Given the description of an element on the screen output the (x, y) to click on. 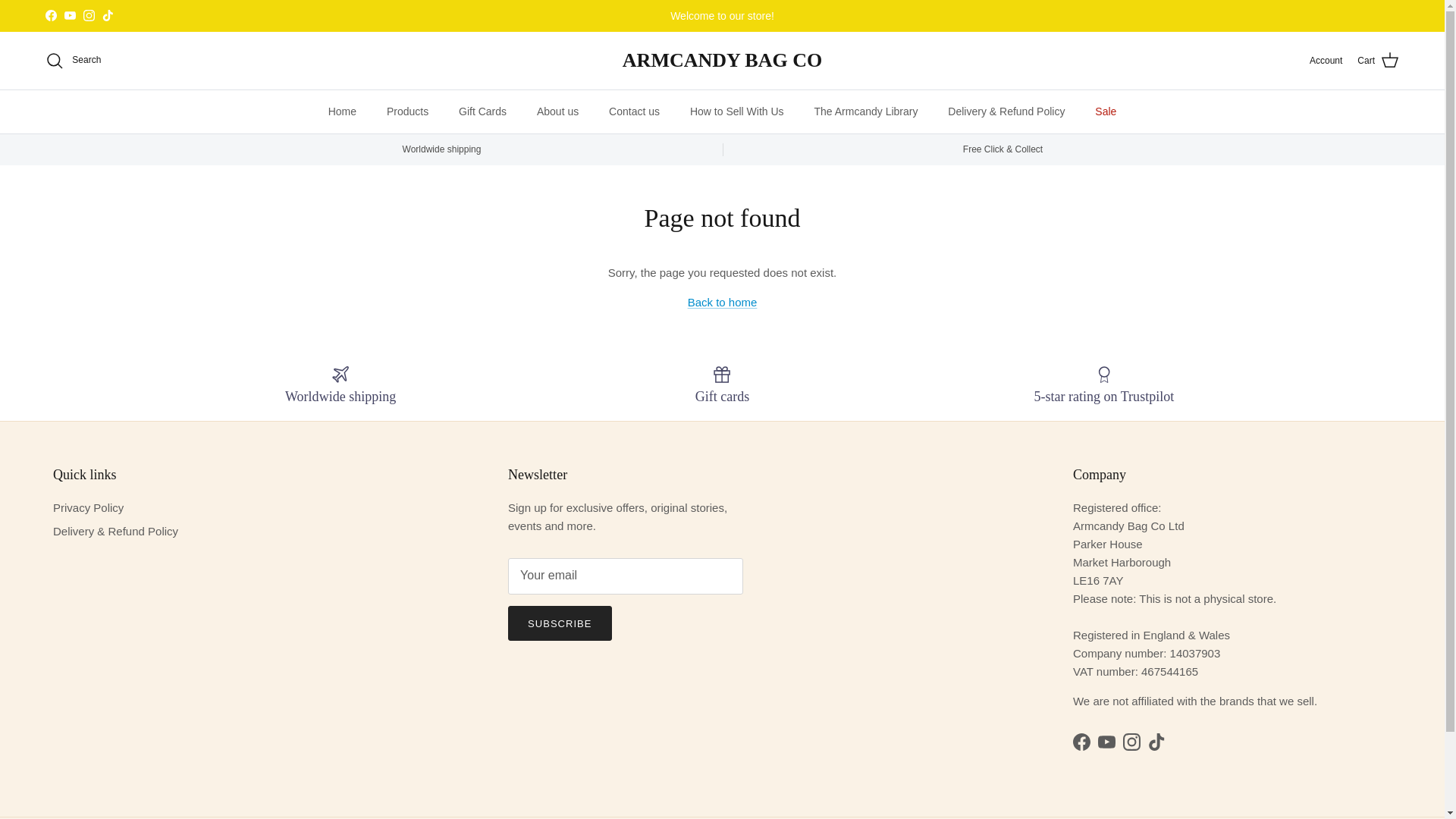
Search (72, 60)
ARMCANDY BAG CO on Facebook (1081, 742)
ARMCANDY BAG CO (722, 60)
ARMCANDY BAG CO on TikTok (107, 15)
ARMCANDY BAG CO on Facebook (50, 15)
Facebook (50, 15)
Home (341, 111)
How to Sell With Us (737, 111)
ARMCANDY BAG CO on Instagram (1131, 742)
ARMCANDY BAG CO on Instagram (88, 15)
